Given the description of an element on the screen output the (x, y) to click on. 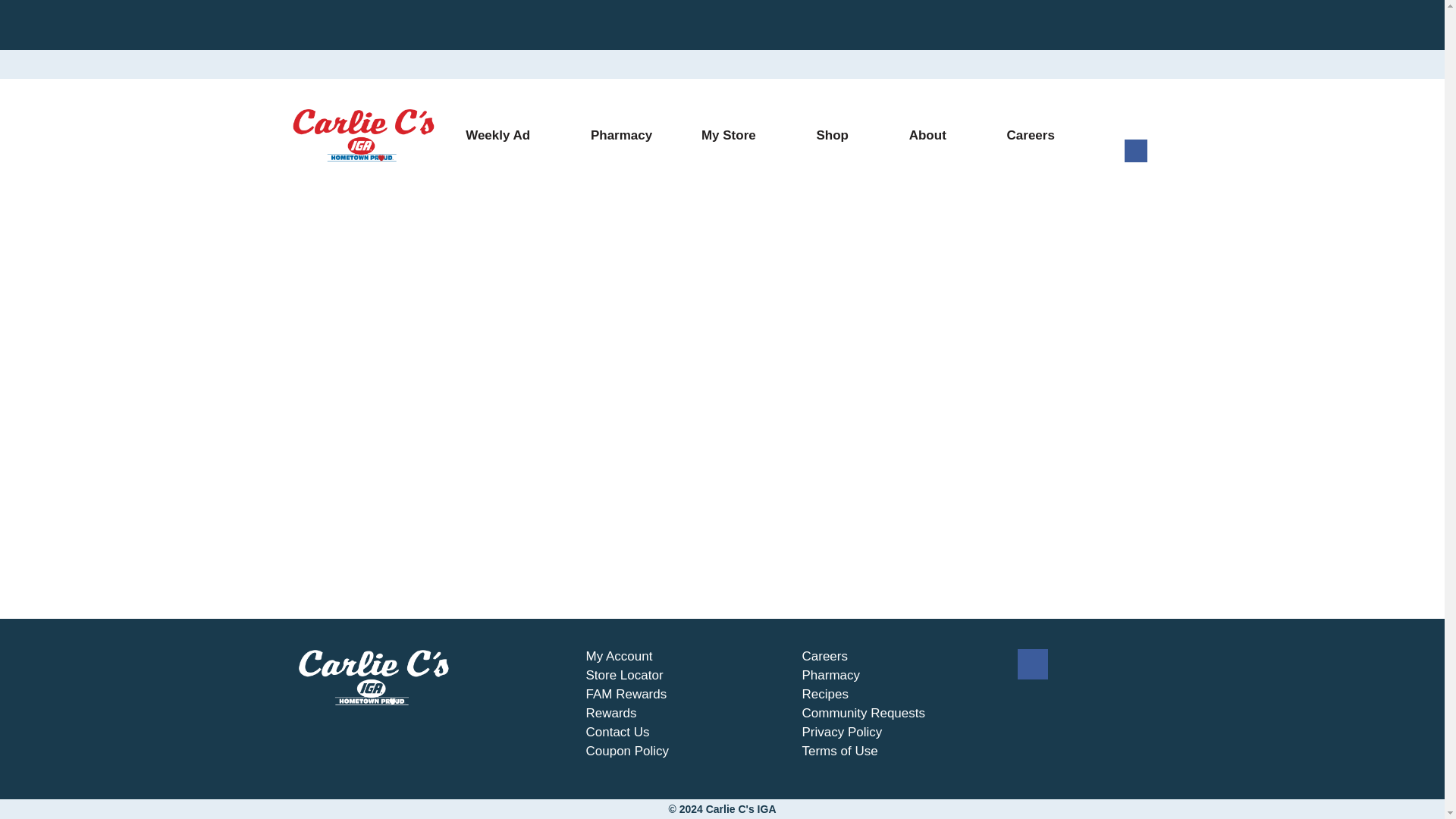
About (932, 135)
Contact Us (617, 732)
Facebook (1135, 157)
Store Locator (623, 675)
Careers (1030, 135)
FAM Rewards (625, 694)
Shop (837, 135)
Weekly Ad (503, 135)
My Store (734, 135)
Rewards (610, 713)
My Account (618, 656)
Facebook (1032, 666)
Pharmacy (621, 135)
